Given the description of an element on the screen output the (x, y) to click on. 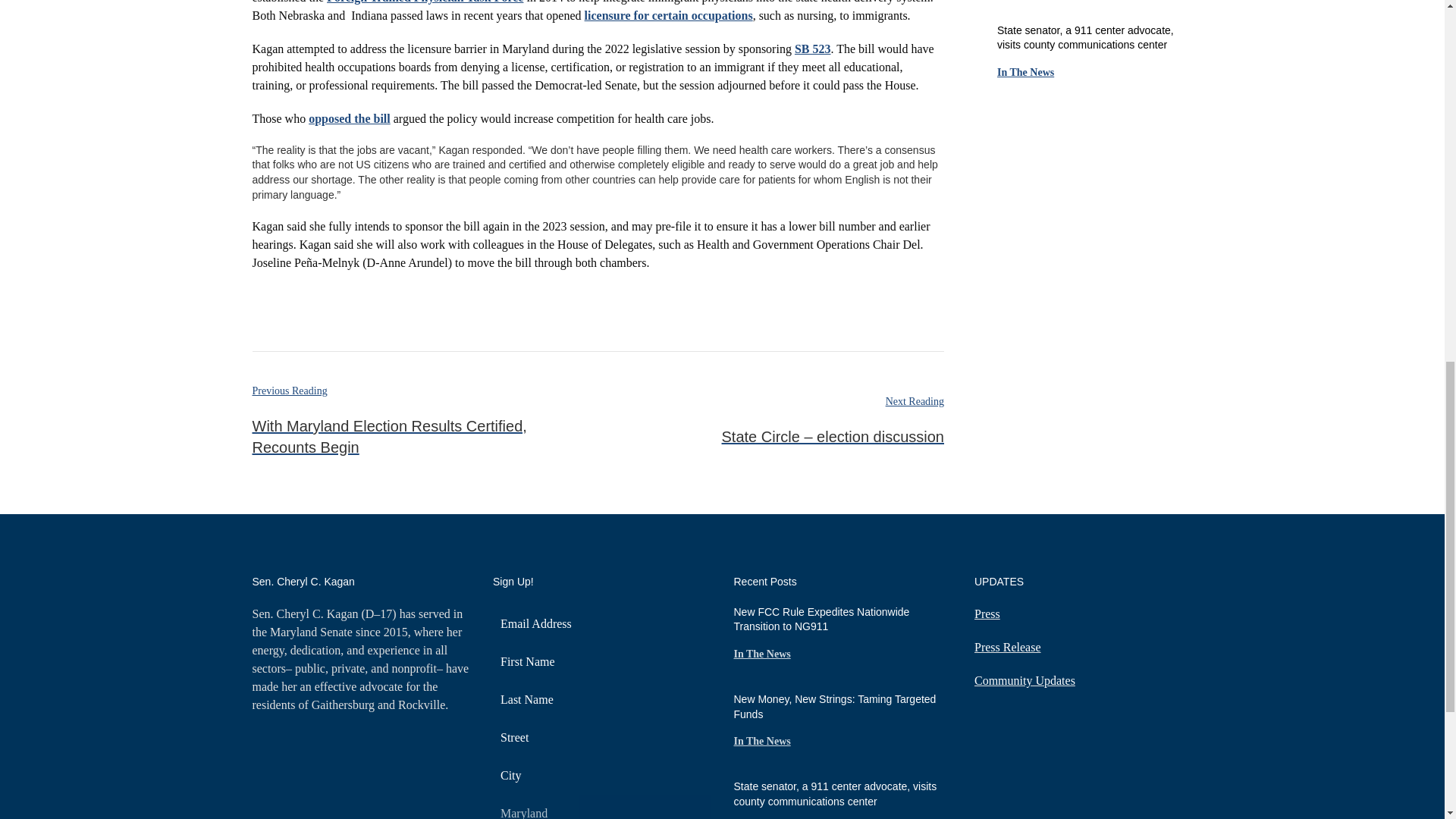
New Money, New Strings: Taming Targeted Funds (834, 706)
New FCC Rule Expedites Nationwide Transition to NG911 (821, 619)
